Given the description of an element on the screen output the (x, y) to click on. 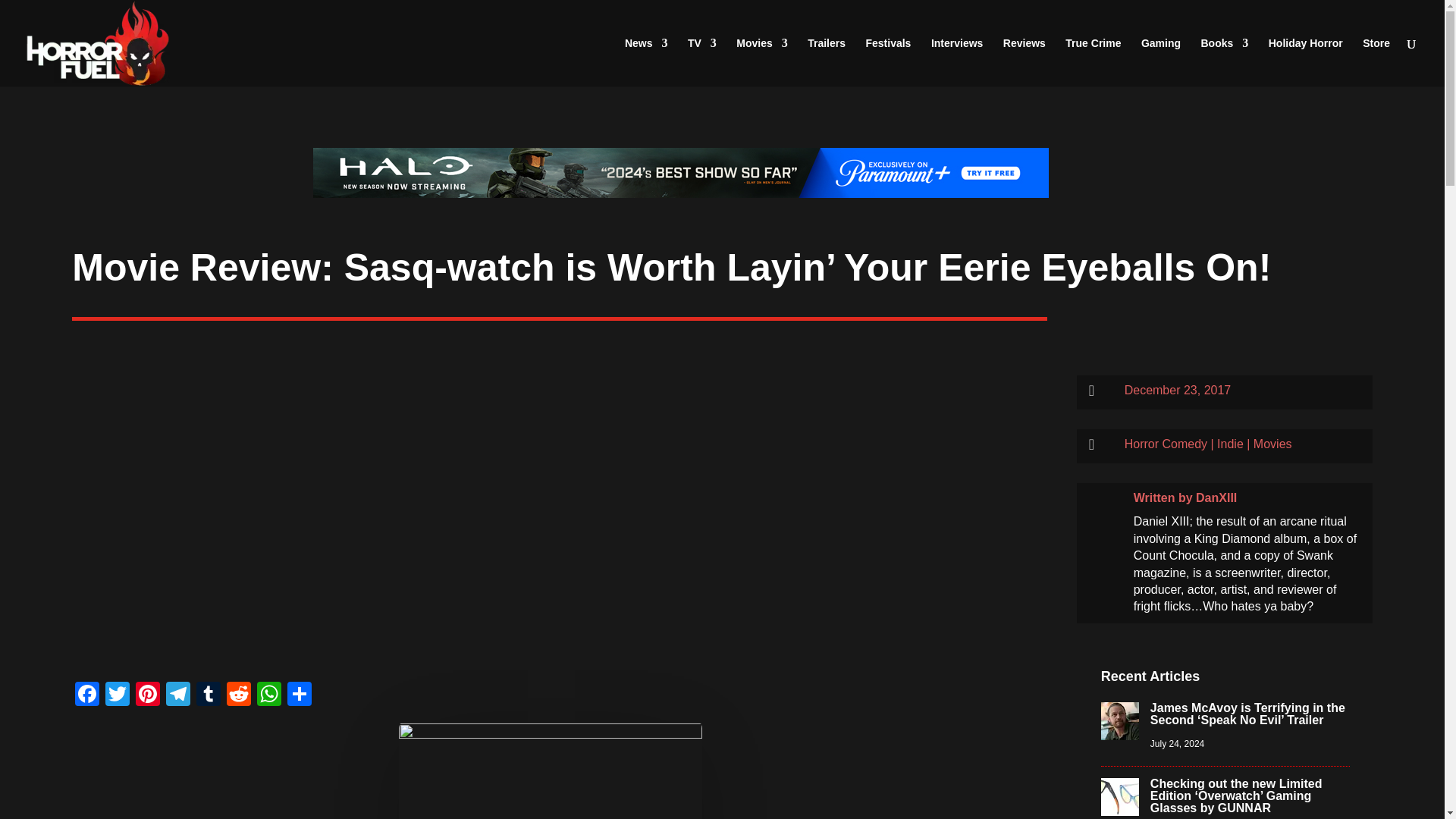
Twitter (116, 695)
Telegram (178, 695)
News (646, 61)
Facebook (86, 695)
Movies (761, 61)
Pinterest (147, 695)
WhatsApp (268, 695)
Reddit (238, 695)
Tumblr (208, 695)
Festivals (887, 61)
